Given the description of an element on the screen output the (x, y) to click on. 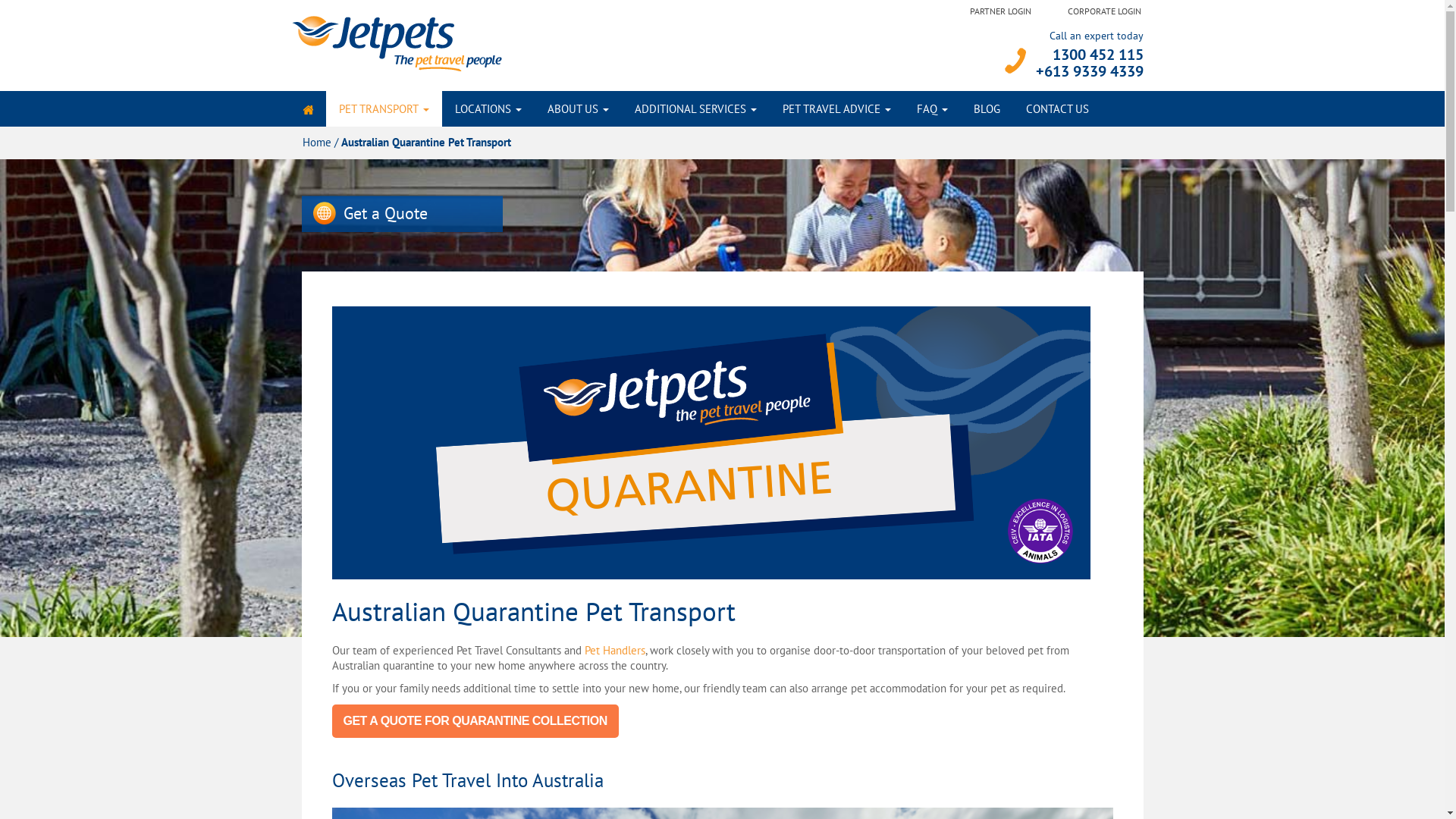
GET A QUOTE FOR QUARANTINE COLLECTION Element type: text (474, 720)
Jetpets AU Element type: hover (395, 41)
ADDITIONAL SERVICES Element type: text (695, 108)
CORPORATE LOGIN Element type: text (1104, 11)
Skip to content Element type: text (289, 108)
CONTACT US Element type: text (1057, 108)
PET TRAVEL ADVICE Element type: text (835, 108)
Home Element type: text (315, 141)
Pet Handlers Element type: text (613, 650)
Get a Quote Element type: text (401, 213)
PARTNER LOGIN Element type: text (1000, 11)
+613 9339 4339 Element type: text (1089, 71)
PET TRANSPORT Element type: text (384, 108)
FAQ Element type: text (931, 108)
LOCATIONS Element type: text (487, 108)
1300 452 115 Element type: text (1097, 54)
ABOUT US Element type: text (577, 108)
BLOG Element type: text (986, 108)
